Given the description of an element on the screen output the (x, y) to click on. 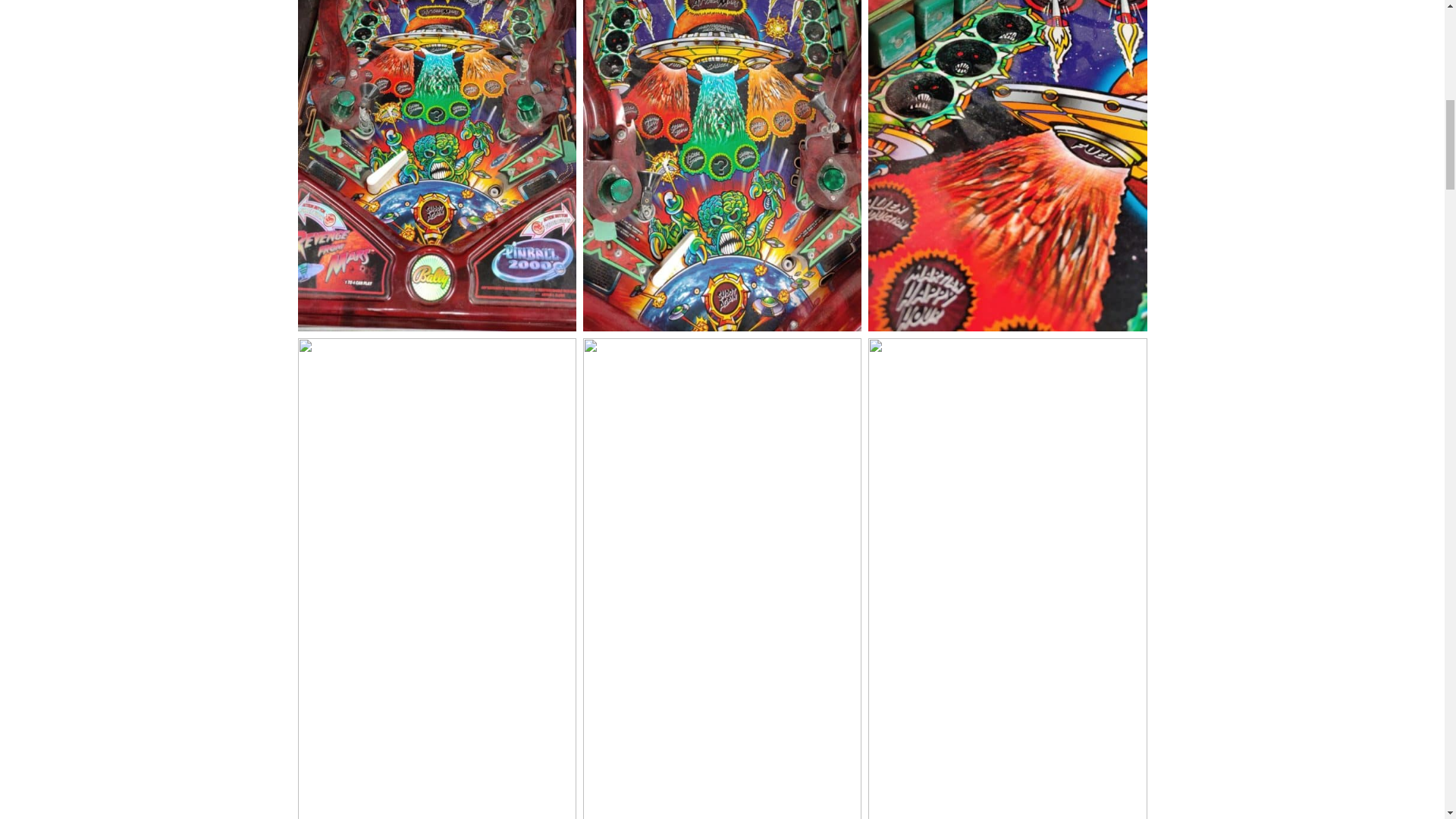
Scroll back to top (1406, 720)
